Given the description of an element on the screen output the (x, y) to click on. 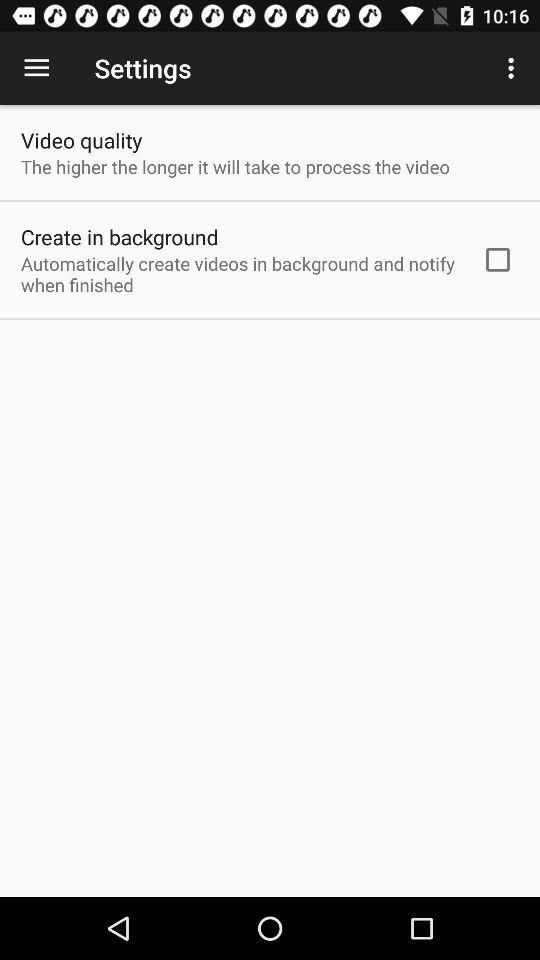
turn on the app to the right of the settings icon (513, 67)
